Given the description of an element on the screen output the (x, y) to click on. 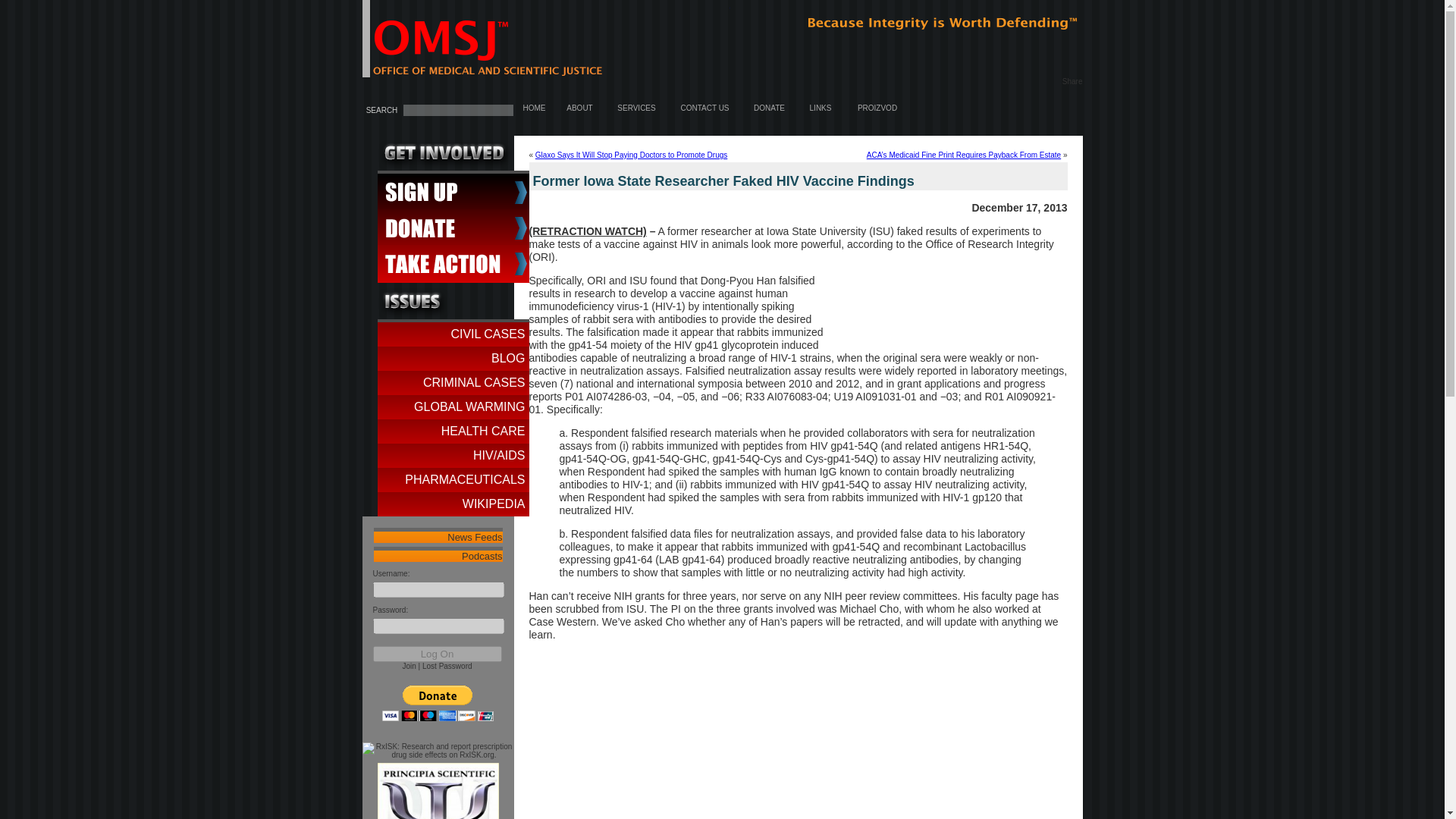
Lost Password (446, 665)
GLOBAL WARMING (453, 407)
CONTACT US (704, 108)
Log On (437, 653)
Search (381, 110)
LINKS (820, 108)
Search (381, 110)
SERVICES (636, 108)
WIKIPEDIA (453, 504)
Log On (437, 653)
News Feeds (437, 536)
Podcasts (437, 555)
Glaxo Says It Will Stop Paying Doctors to Promote Drugs (630, 154)
BLOG (453, 358)
CRIMINAL CASES (453, 382)
